Given the description of an element on the screen output the (x, y) to click on. 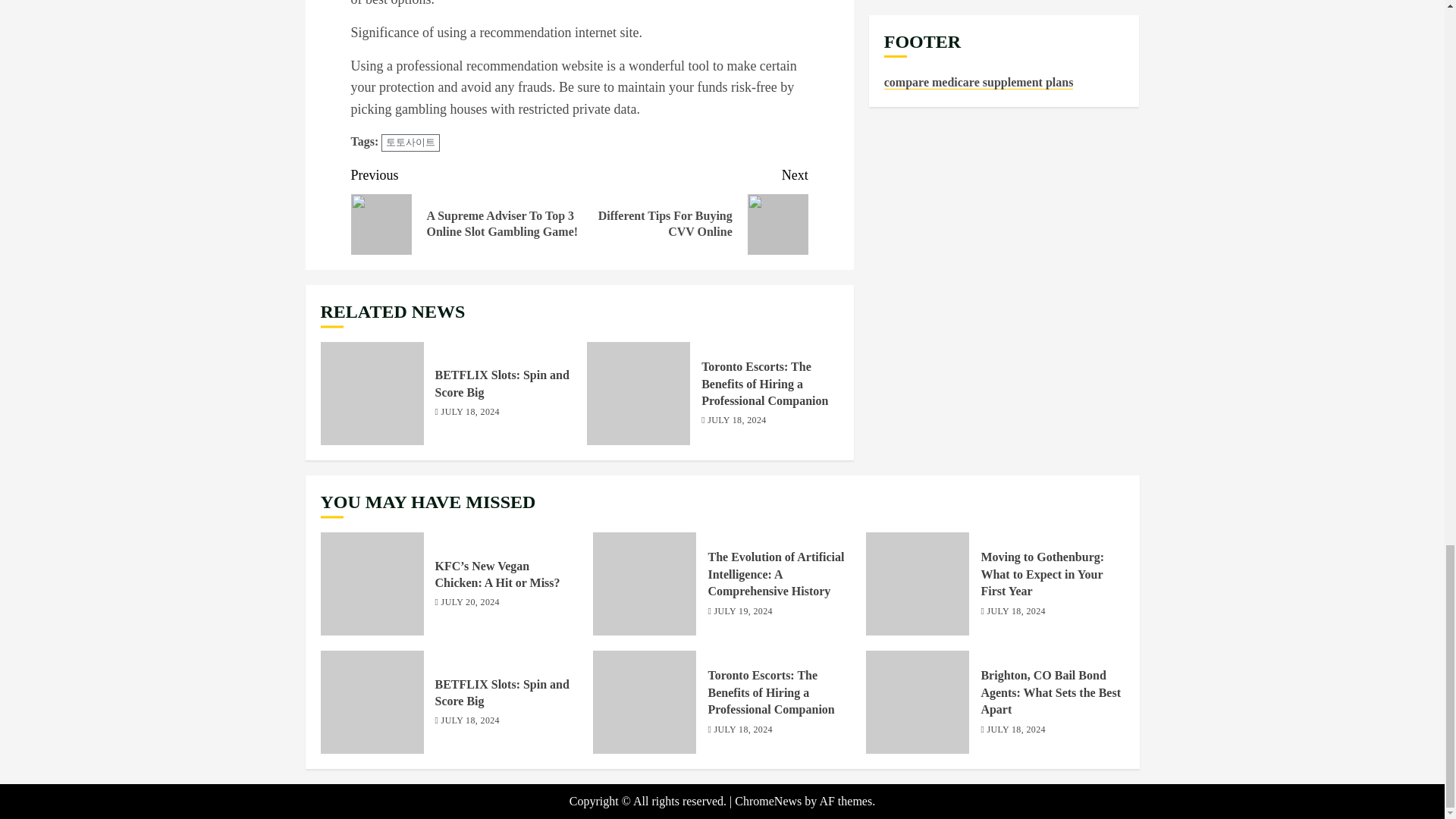
Brighton, CO Bail Bond Agents: What Sets the Best Apart (917, 701)
Brighton, CO Bail Bond Agents: What Sets the Best Apart (1050, 692)
Moving to Gothenburg: What to Expect in Your First Year (1041, 574)
ChromeNews (768, 800)
BETFLIX Slots: Spin and Score Big (371, 393)
BETFLIX Slots: Spin and Score Big (502, 383)
BETFLIX Slots: Spin and Score Big (371, 701)
Moving to Gothenburg: What to Expect in Your First Year (693, 209)
